Given the description of an element on the screen output the (x, y) to click on. 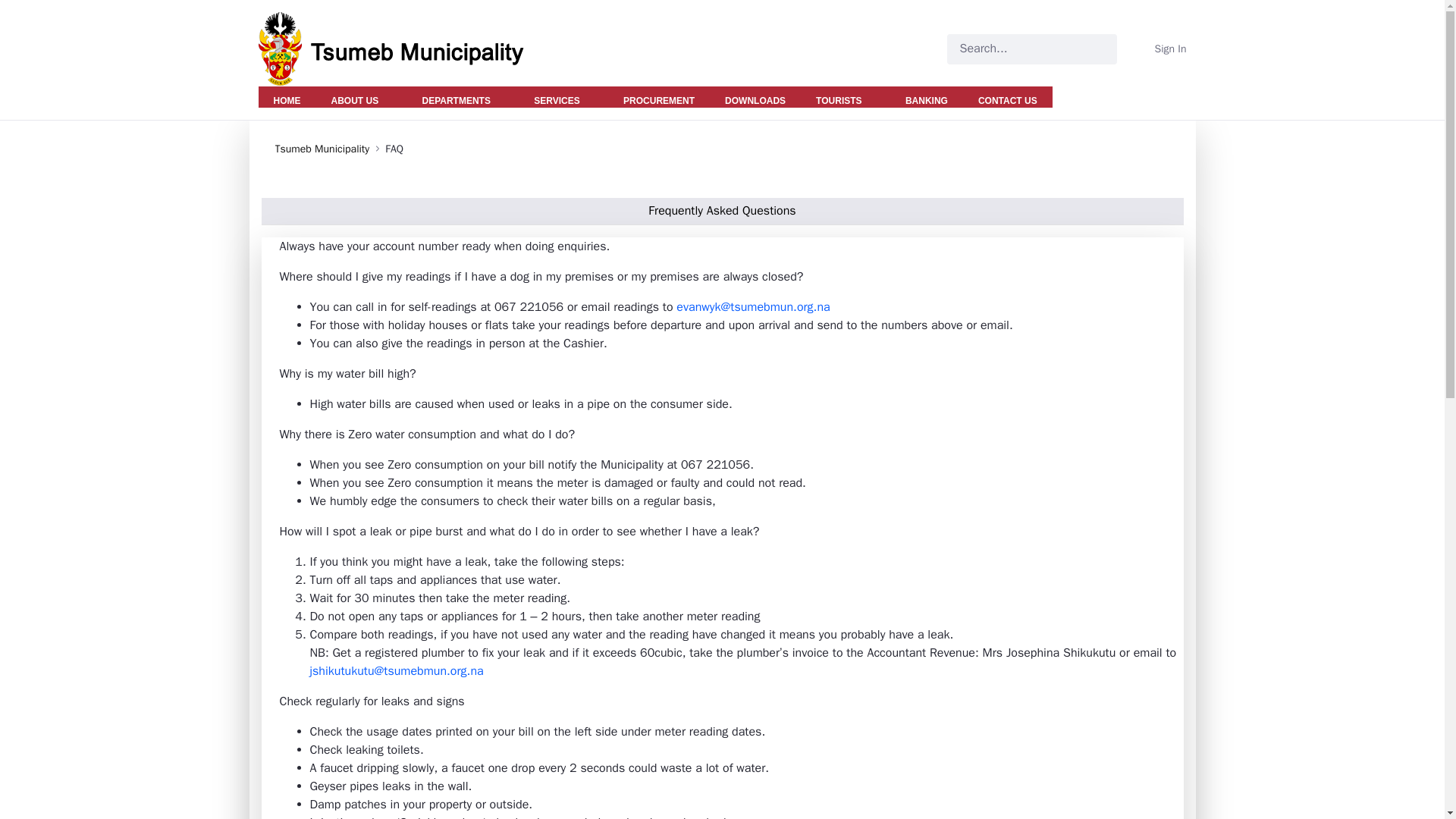
Search (1011, 48)
DOWNLOADS (755, 96)
BANKING (925, 96)
TOURISTS (844, 96)
Sign In (1160, 48)
PROCUREMENT (659, 96)
DEPARTMENTS (462, 96)
CONTACT US (1007, 96)
Tsumeb Municipality (322, 148)
Go to  (400, 48)
